Given the description of an element on the screen output the (x, y) to click on. 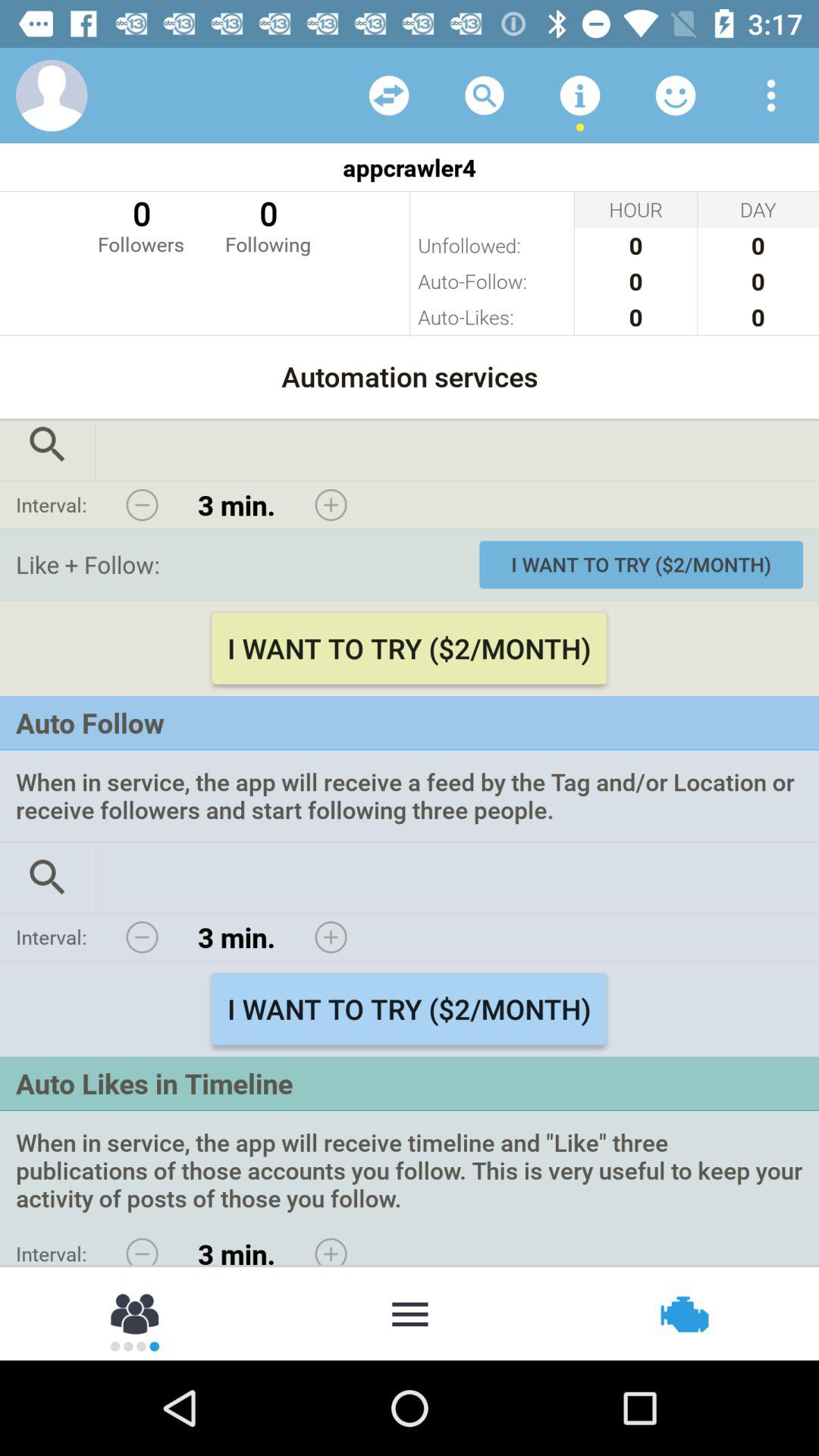
person (136, 1312)
